Given the description of an element on the screen output the (x, y) to click on. 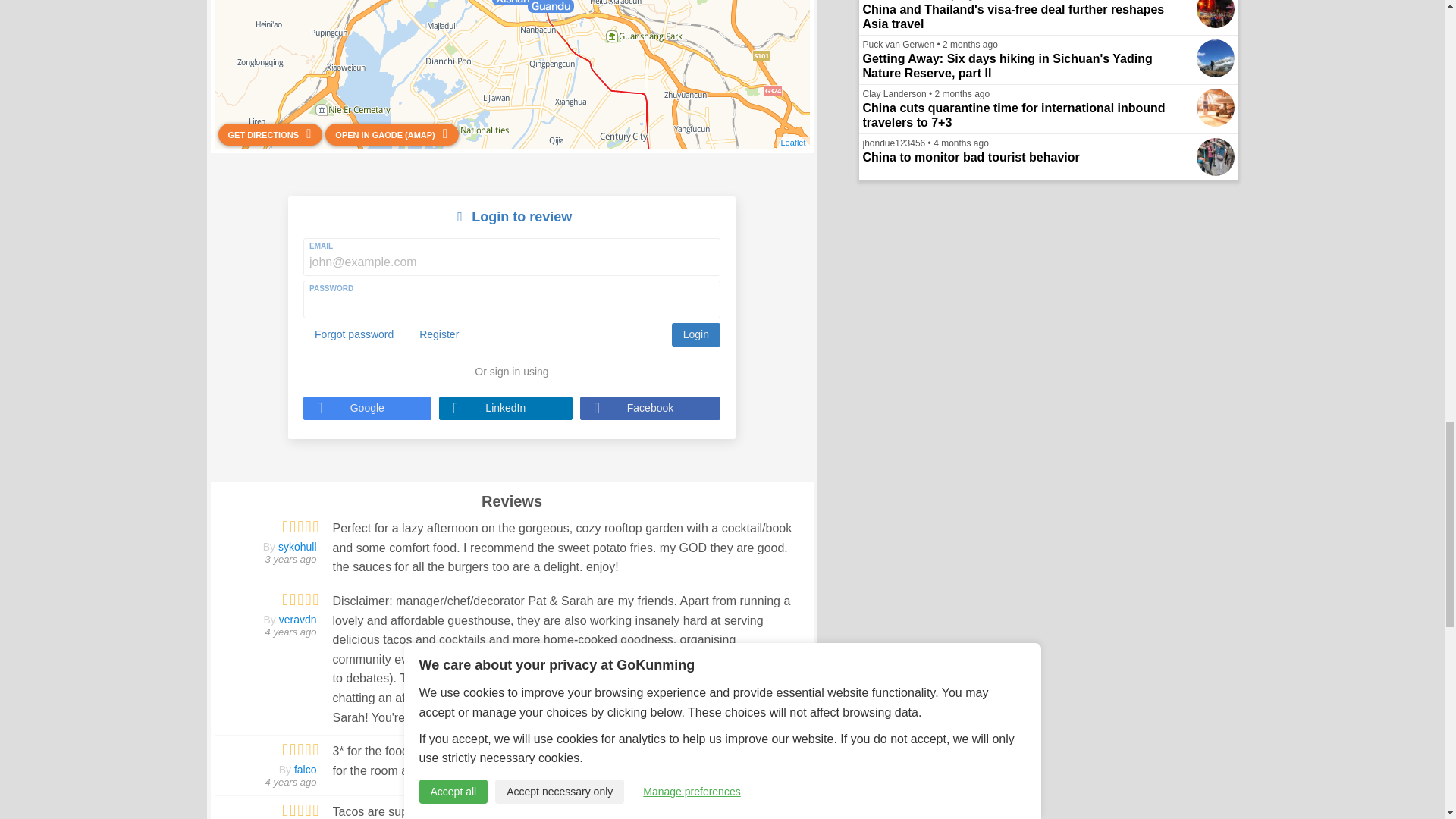
October 15, 2020, 2:44pm (290, 632)
A JS library for interactive maps (792, 142)
April 16, 2021, 8:35am (290, 559)
June 30, 2020, 12:12am (290, 781)
